Given the description of an element on the screen output the (x, y) to click on. 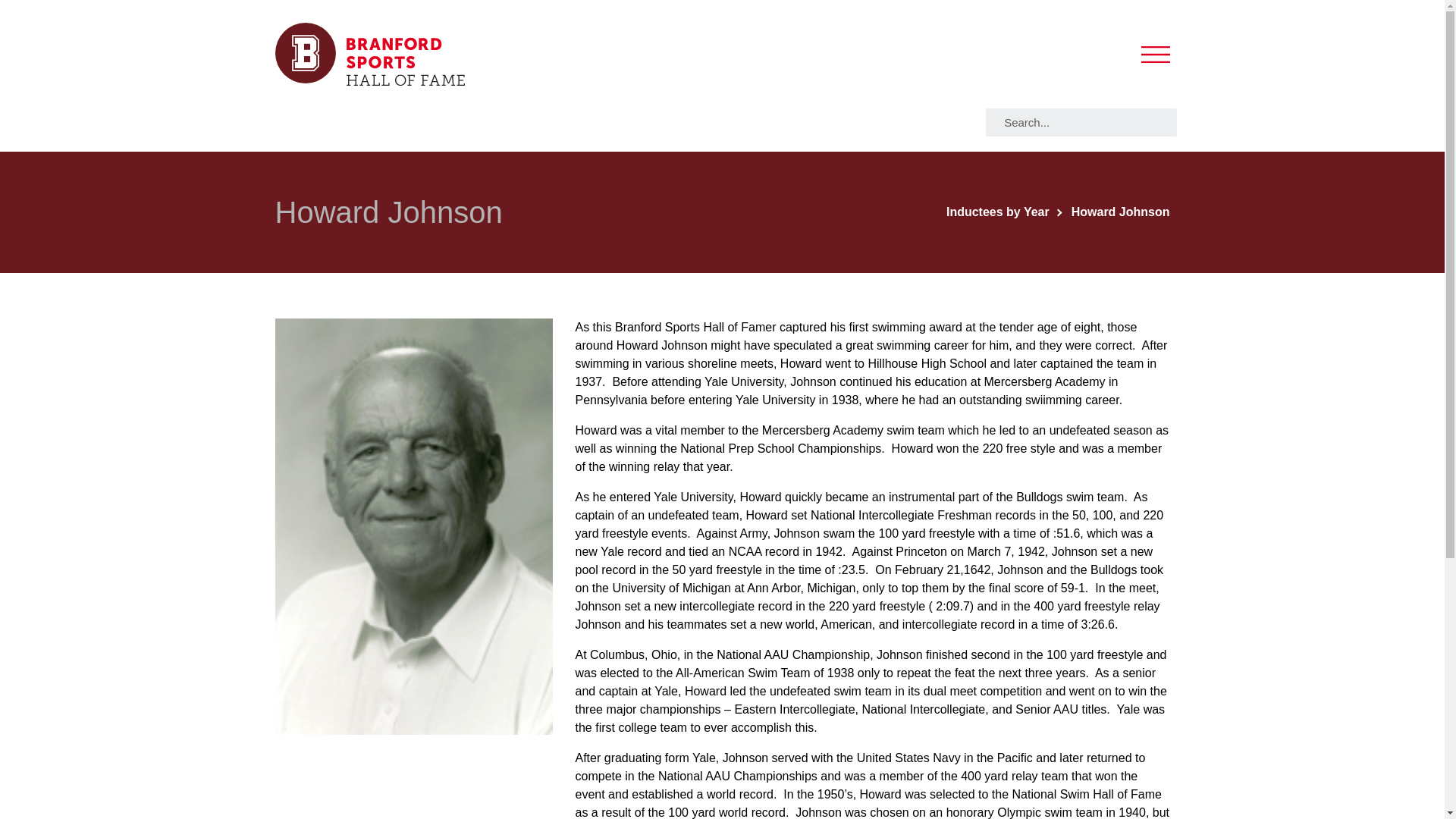
Search (1085, 122)
Inductees by Year (1003, 211)
